Given the description of an element on the screen output the (x, y) to click on. 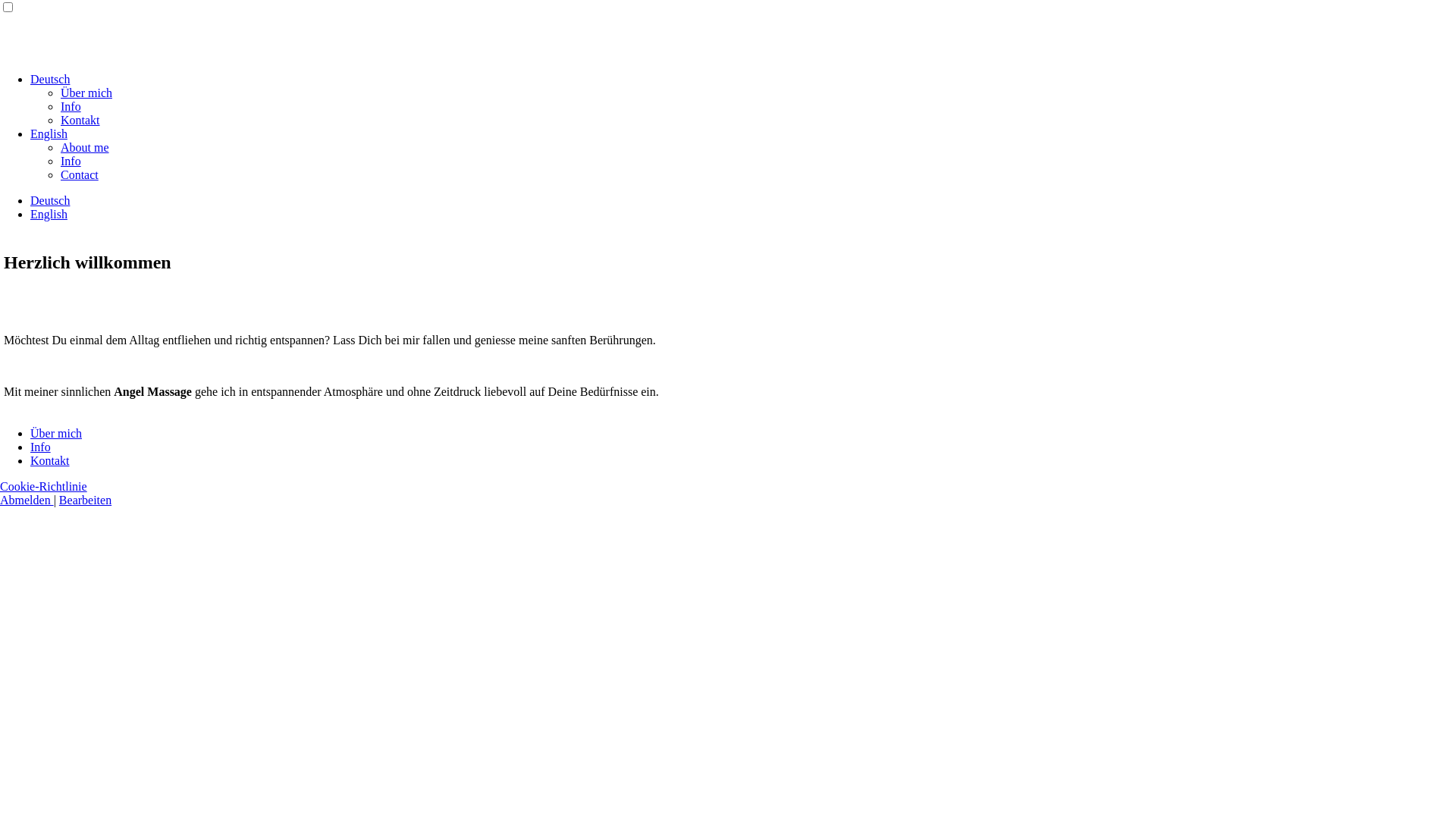
Contact Element type: text (79, 174)
Bearbeiten Element type: text (85, 499)
Cookie-Richtlinie Element type: text (43, 486)
English Element type: text (48, 213)
Info Element type: text (70, 106)
Abmelden Element type: text (26, 499)
Kontakt Element type: text (49, 460)
Deutsch Element type: text (49, 78)
About me Element type: text (84, 147)
Info Element type: text (70, 160)
Deutsch Element type: text (49, 200)
Kontakt Element type: text (80, 119)
Info Element type: text (40, 446)
English Element type: text (48, 133)
